Given the description of an element on the screen output the (x, y) to click on. 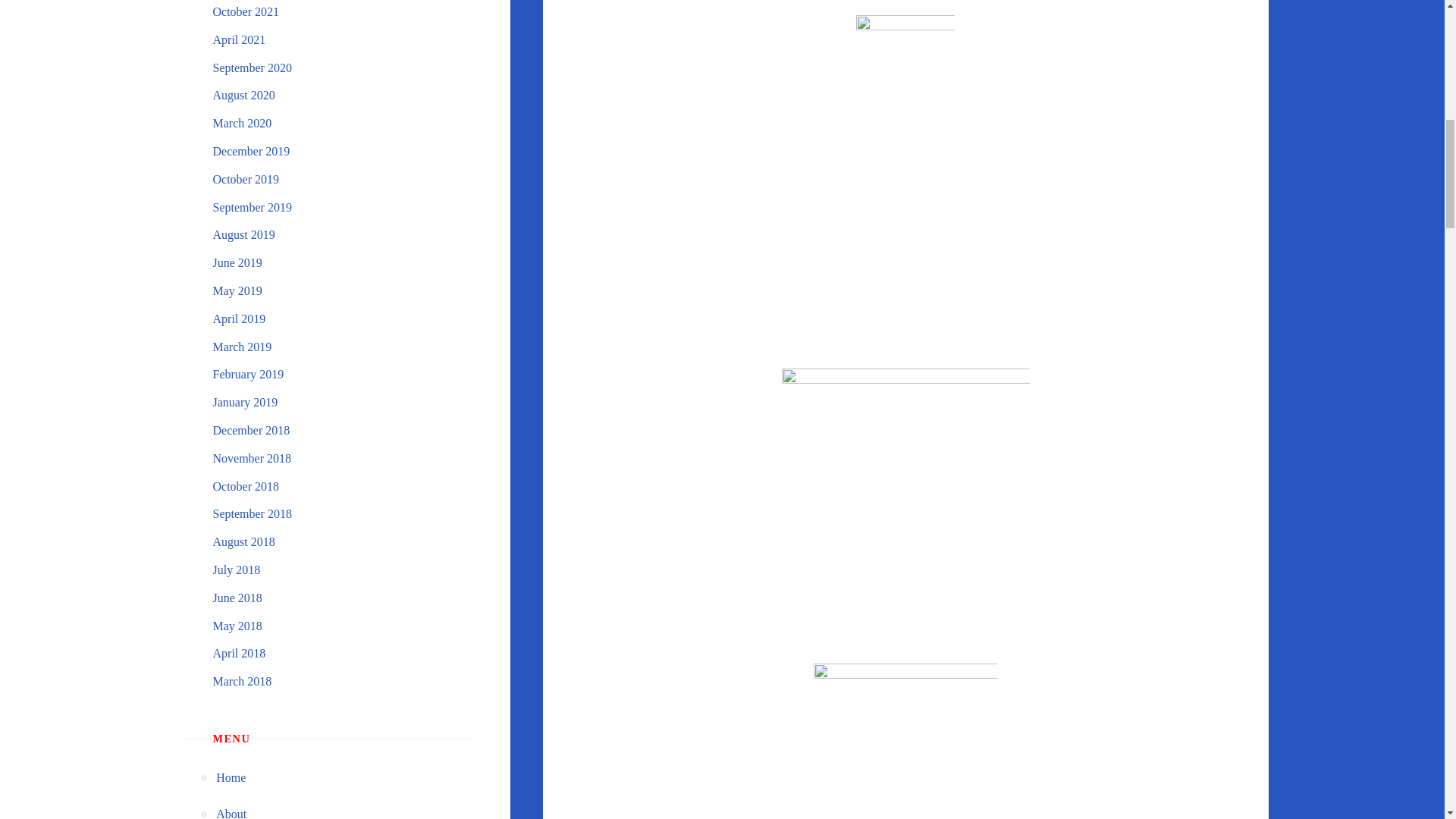
October 2021 (245, 11)
May 2019 (237, 290)
April 2019 (238, 318)
November 2018 (251, 458)
March 2020 (241, 123)
September 2018 (251, 513)
August 2019 (243, 234)
August 2018 (243, 541)
October 2019 (245, 178)
October 2018 (245, 486)
September 2020 (251, 67)
June 2019 (237, 262)
December 2019 (250, 151)
January 2019 (245, 401)
September 2019 (251, 206)
